Given the description of an element on the screen output the (x, y) to click on. 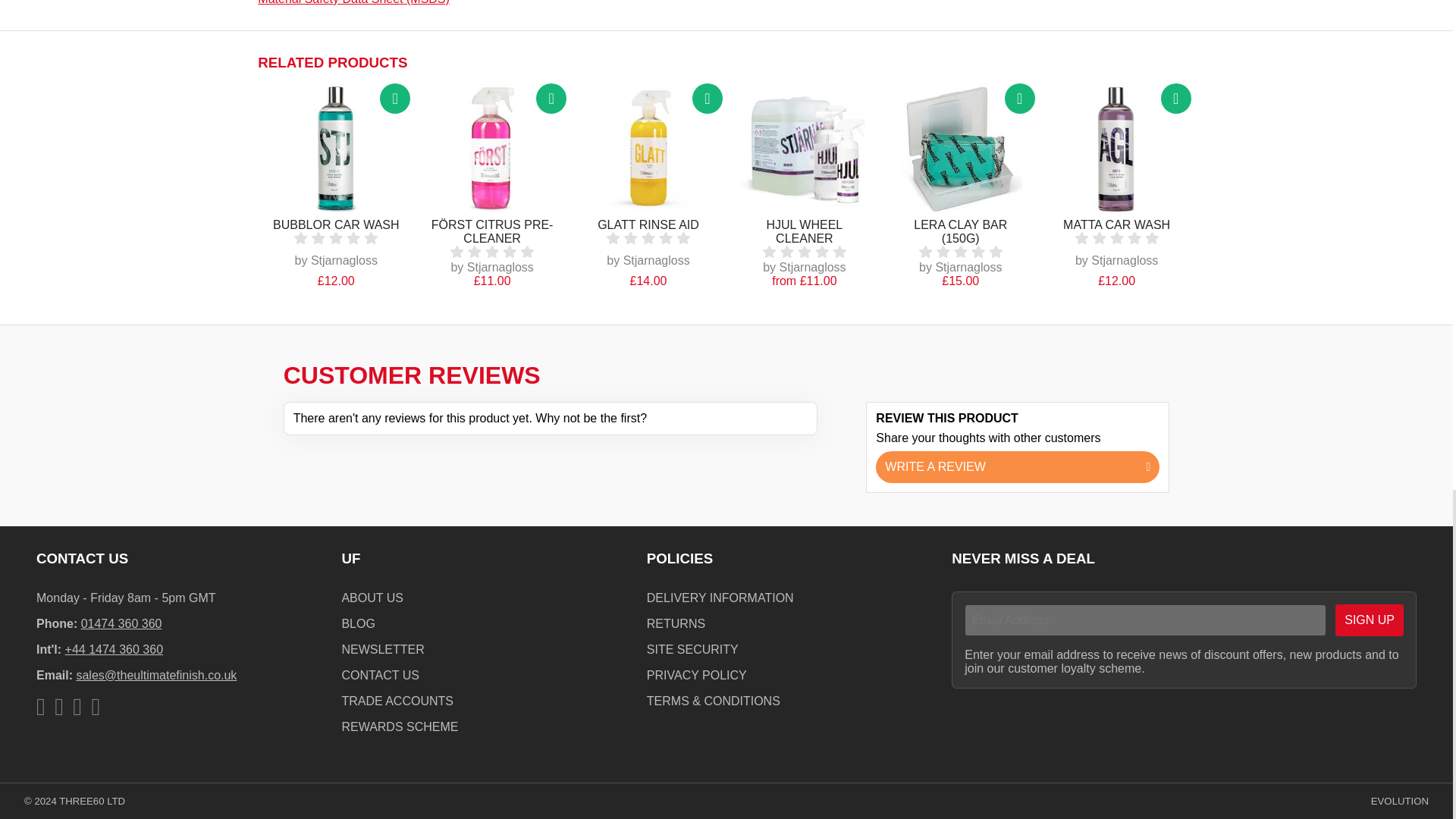
Stjarnagloss Hjul Wheel Cleaner (804, 149)
Sign Up (1369, 620)
